Given the description of an element on the screen output the (x, y) to click on. 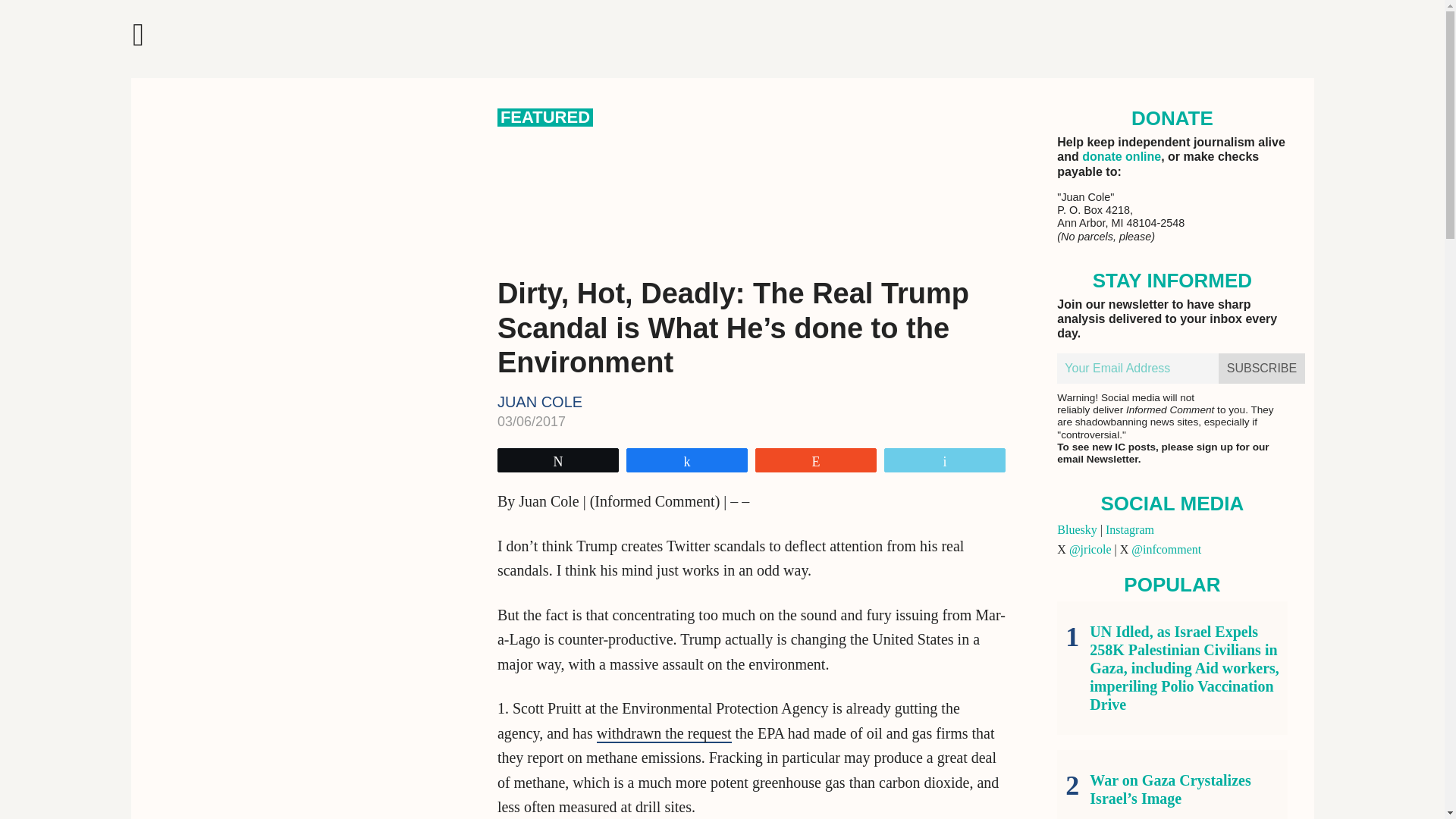
JUAN COLE (539, 401)
withdrawn the request (664, 733)
subscribe (1262, 368)
FEATURED (544, 117)
